Given the description of an element on the screen output the (x, y) to click on. 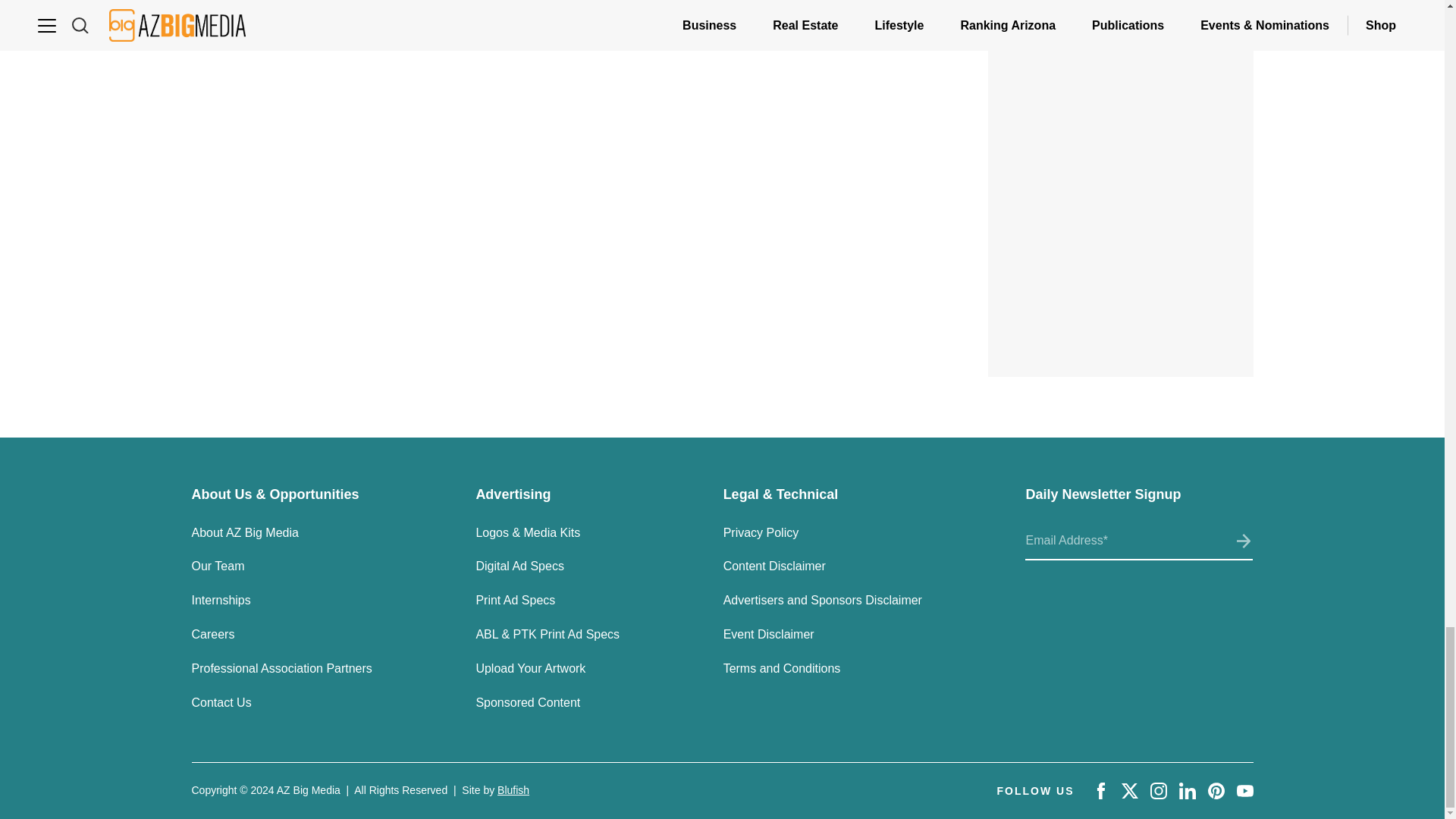
3rd party ad content (1120, 115)
3rd party ad content (1120, 1)
